Given the description of an element on the screen output the (x, y) to click on. 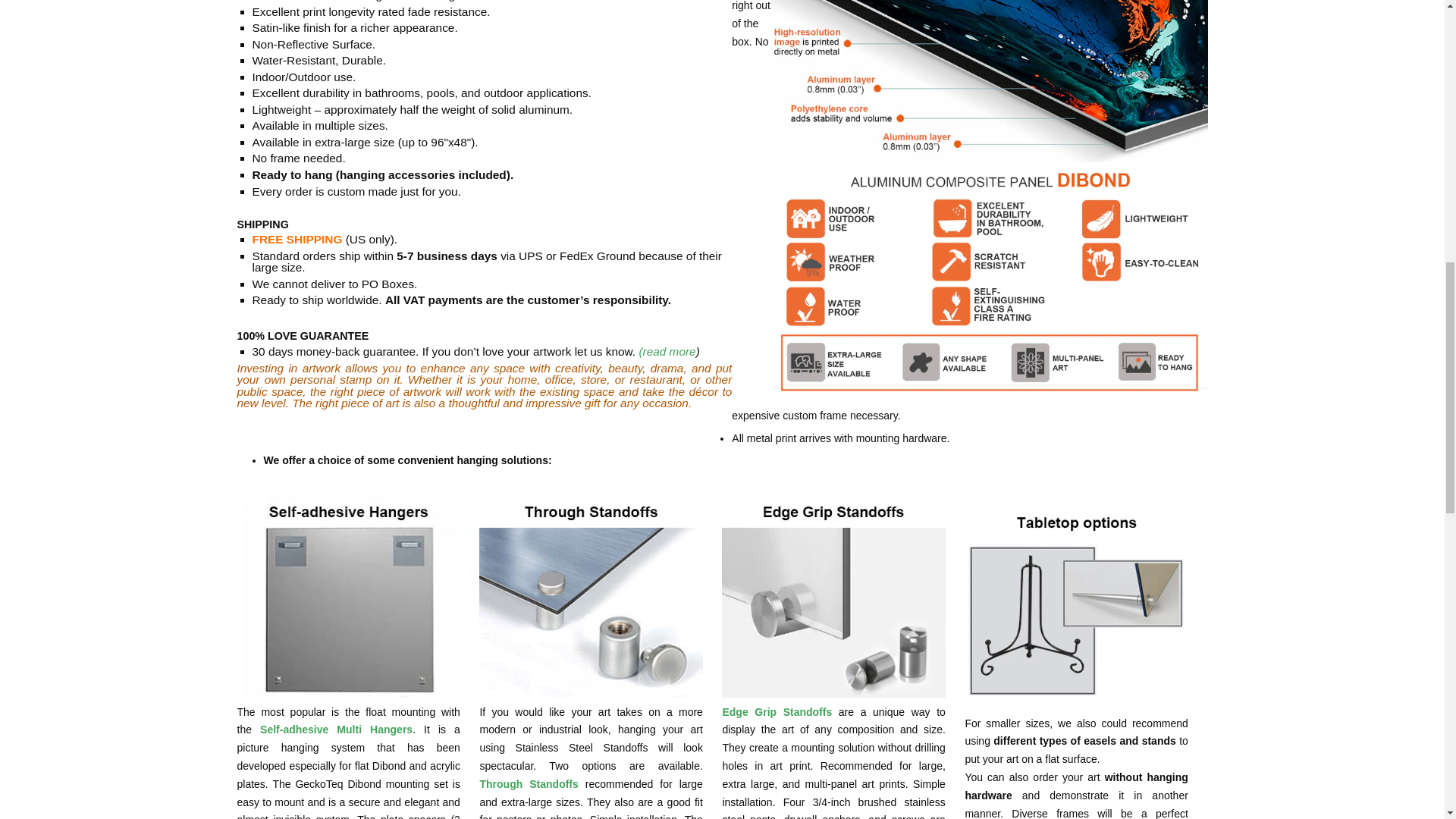
Standoffs (528, 784)
Edge Grip Standoffs (776, 711)
